Given the description of an element on the screen output the (x, y) to click on. 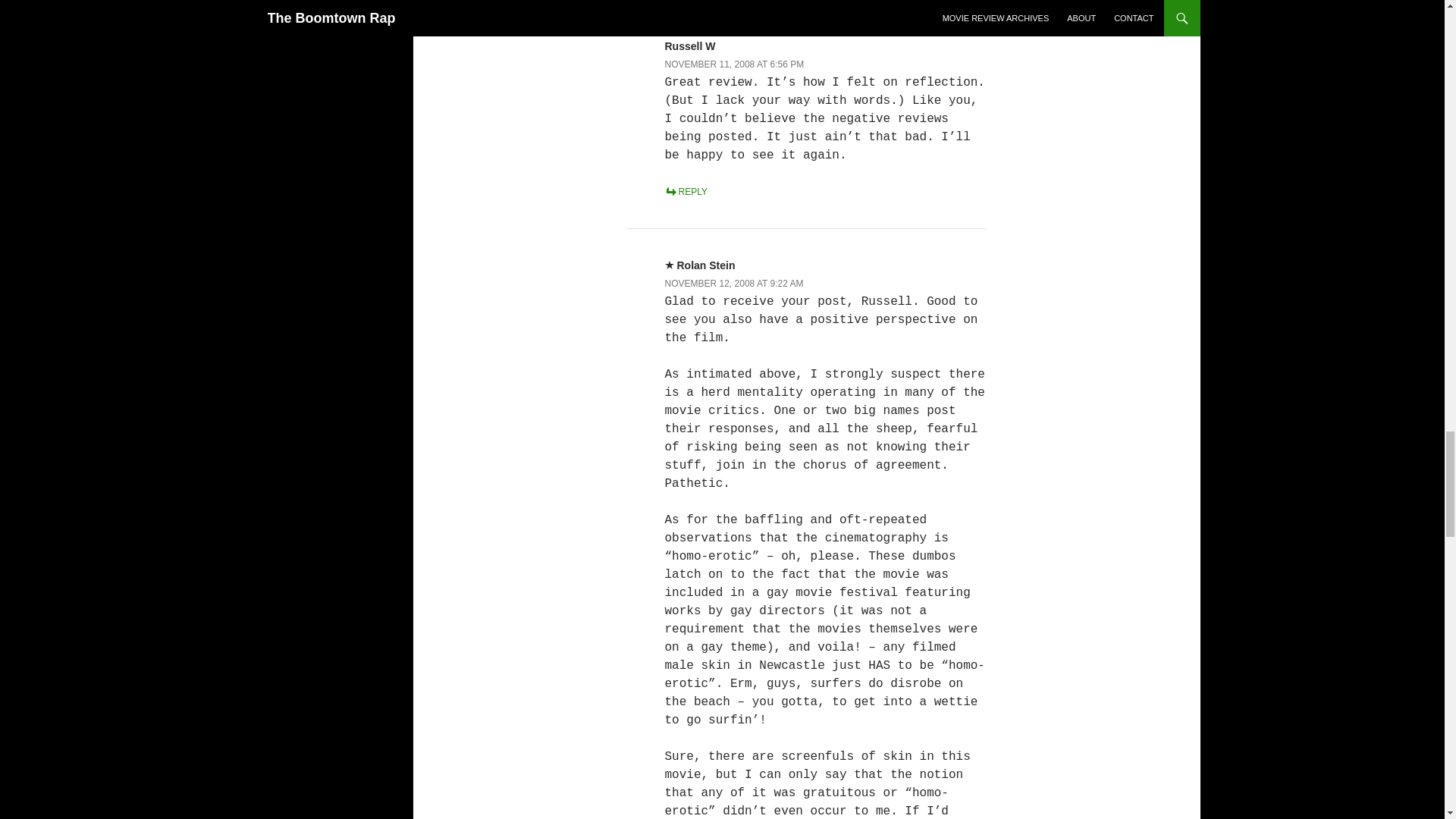
NOVEMBER 12, 2008 AT 9:22 AM (733, 283)
REPLY (684, 191)
NOVEMBER 11, 2008 AT 6:56 PM (733, 63)
